Given the description of an element on the screen output the (x, y) to click on. 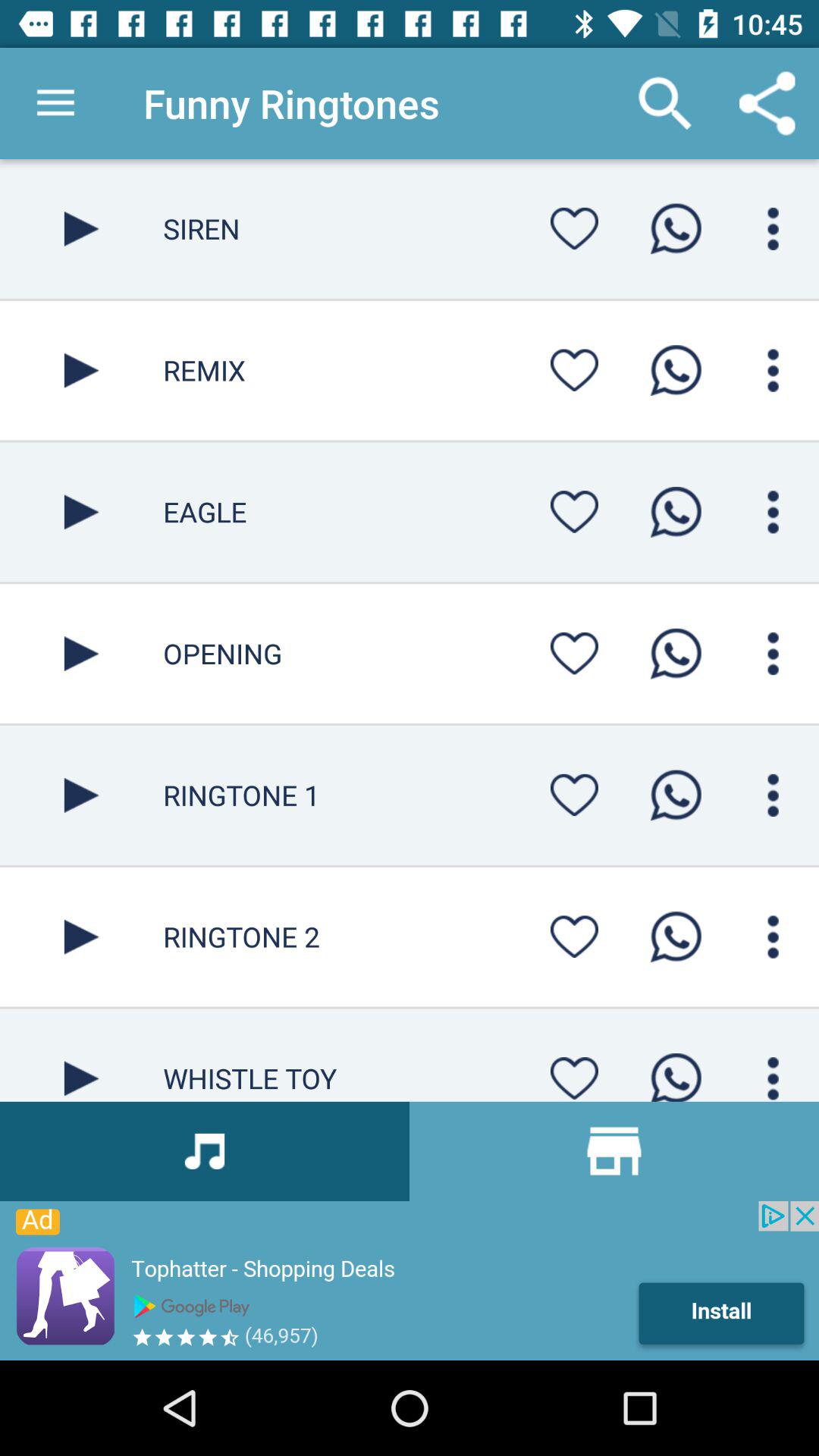
start call (675, 228)
